Given the description of an element on the screen output the (x, y) to click on. 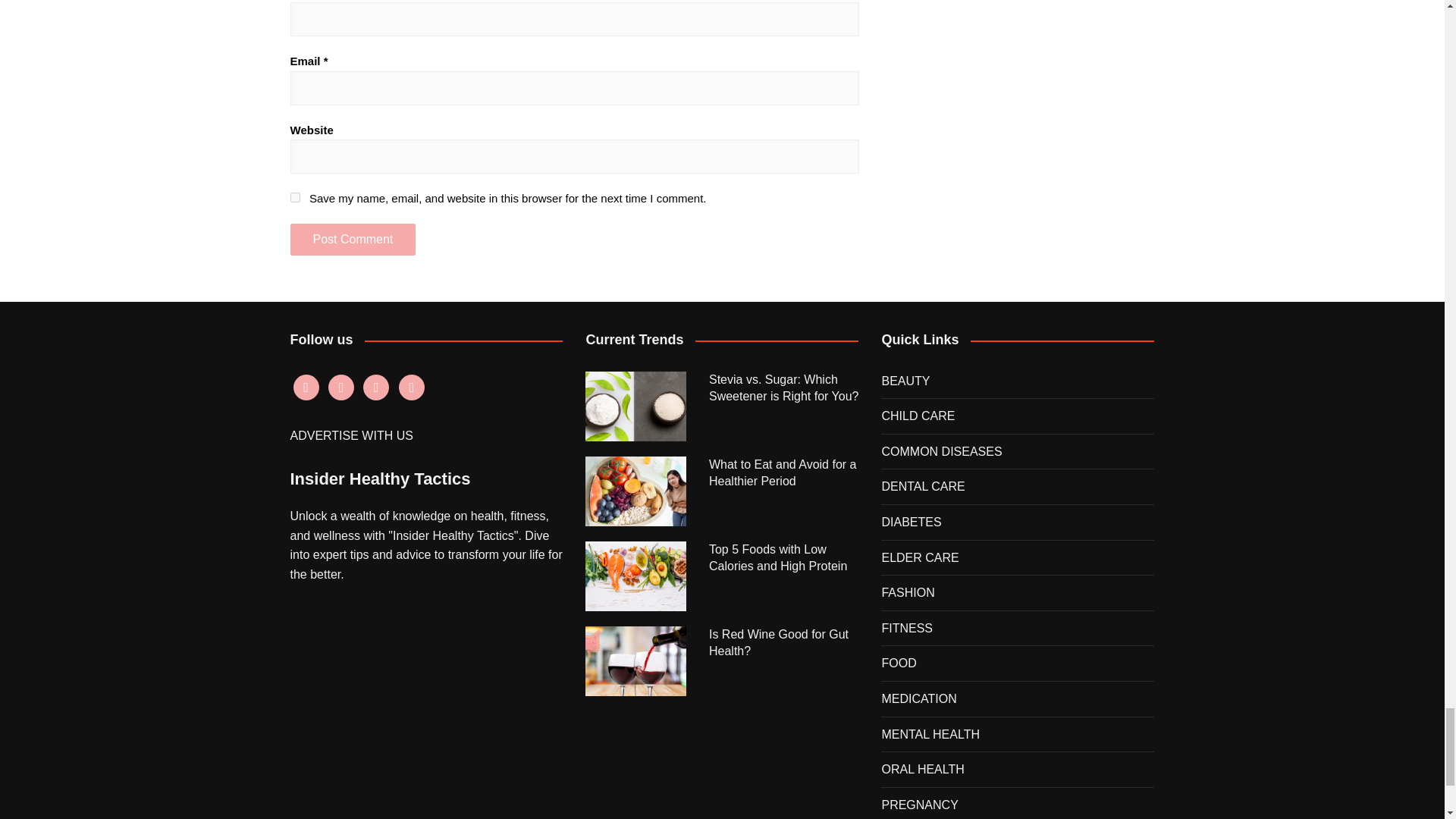
Post Comment (351, 239)
Facebook (305, 386)
yes (294, 197)
youtube (375, 386)
instagram (341, 386)
Instagram (341, 386)
ADVERTISE WITH US (350, 435)
mail (411, 386)
Post Comment (351, 239)
facebook (305, 386)
